Given the description of an element on the screen output the (x, y) to click on. 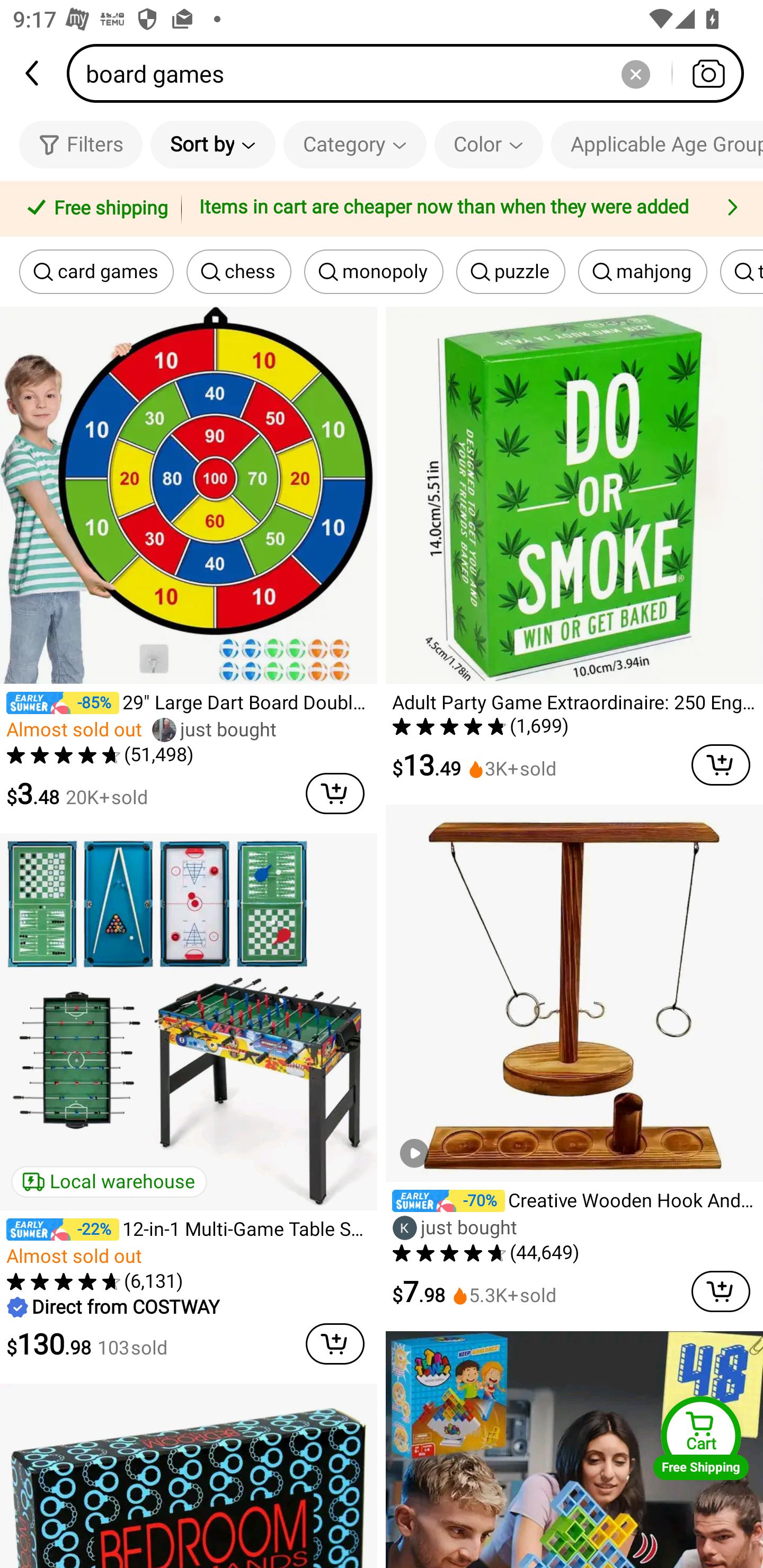
back (33, 72)
board games (411, 73)
Delete search history (635, 73)
Search by photo (708, 73)
Filters (80, 143)
Sort by (212, 143)
Category (354, 143)
Color (488, 143)
Applicable Age Group (656, 143)
 Free shipping (93, 208)
card games (96, 271)
chess (238, 271)
monopoly (373, 271)
puzzle (510, 271)
mahjong (642, 271)
cart delete (720, 764)
cart delete (334, 793)
cart delete (720, 1291)
cart delete (334, 1343)
Cart Free Shipping Cart (701, 1437)
